Given the description of an element on the screen output the (x, y) to click on. 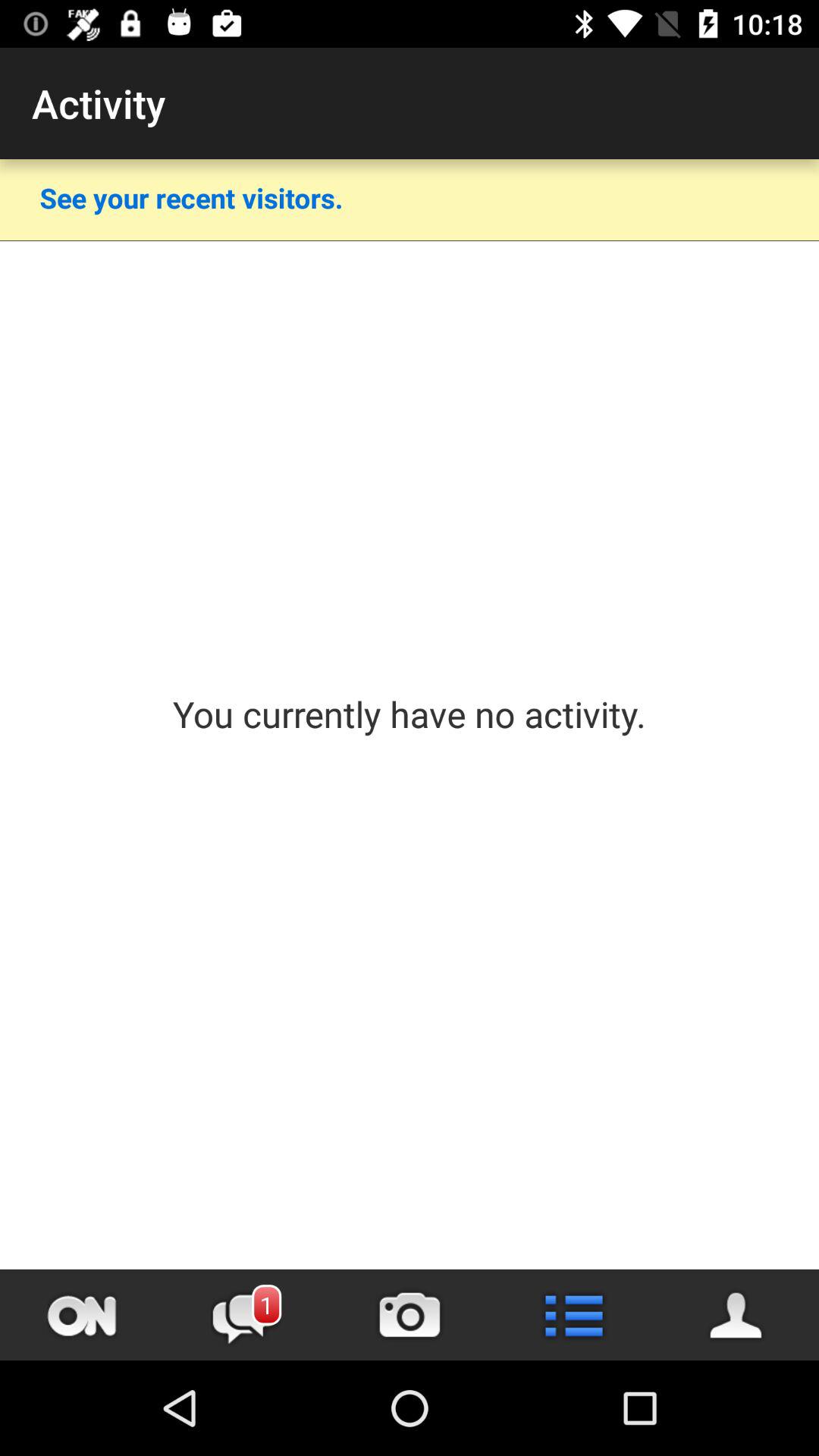
turn off see your recent (190, 197)
